Given the description of an element on the screen output the (x, y) to click on. 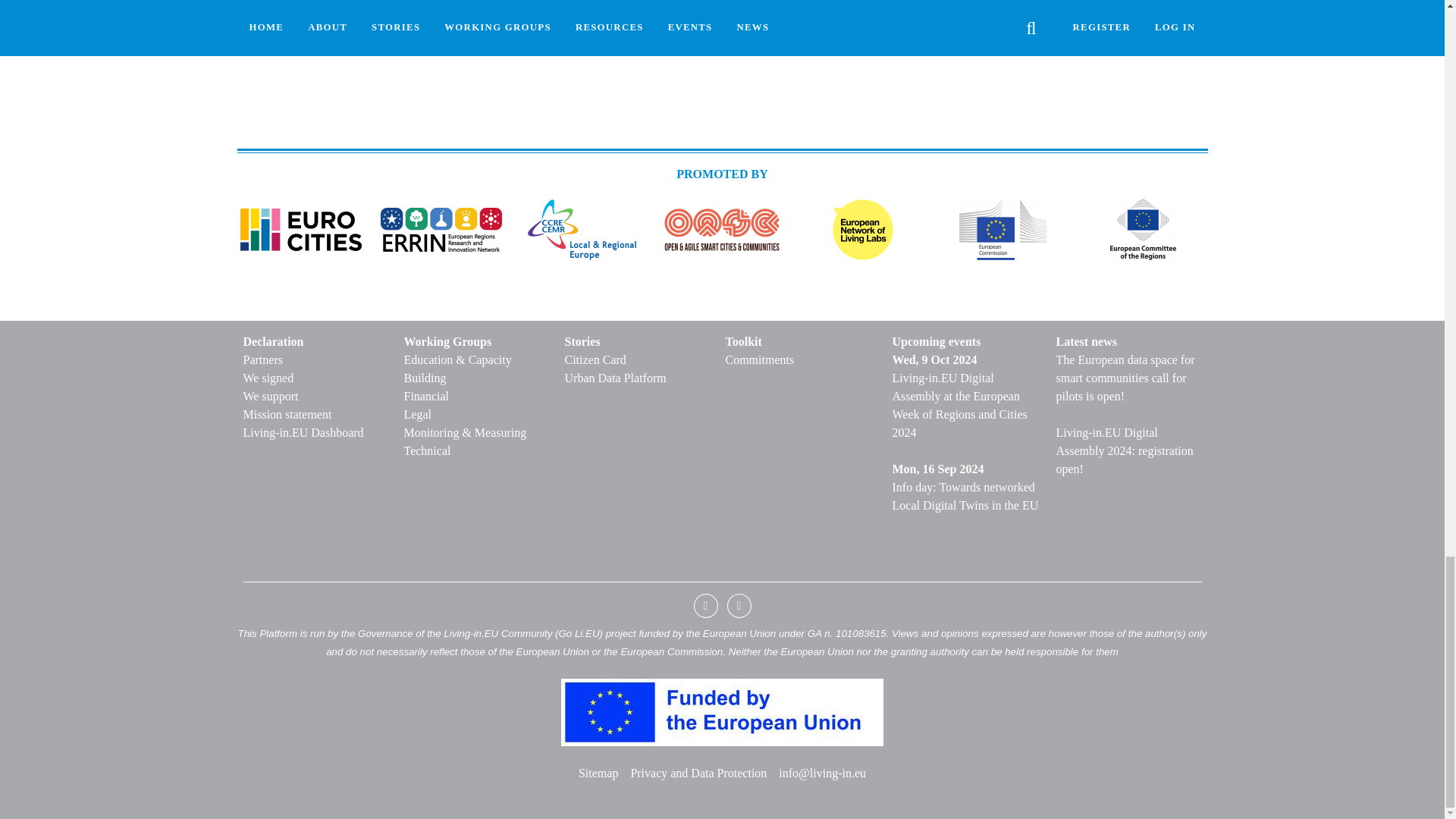
Mission statement (316, 414)
Declaration (316, 341)
